Given the description of an element on the screen output the (x, y) to click on. 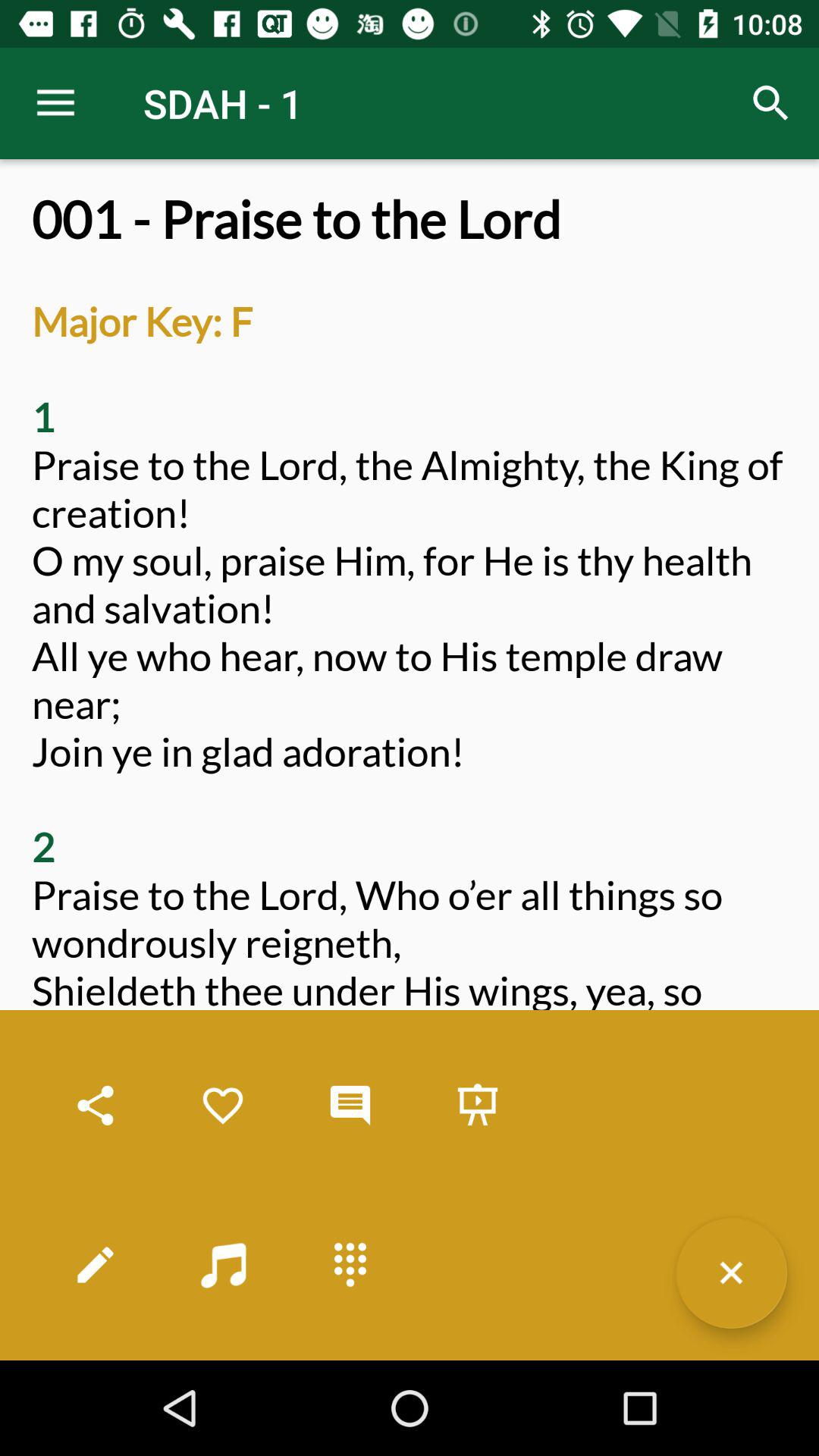
share the hymn (95, 1105)
